Given the description of an element on the screen output the (x, y) to click on. 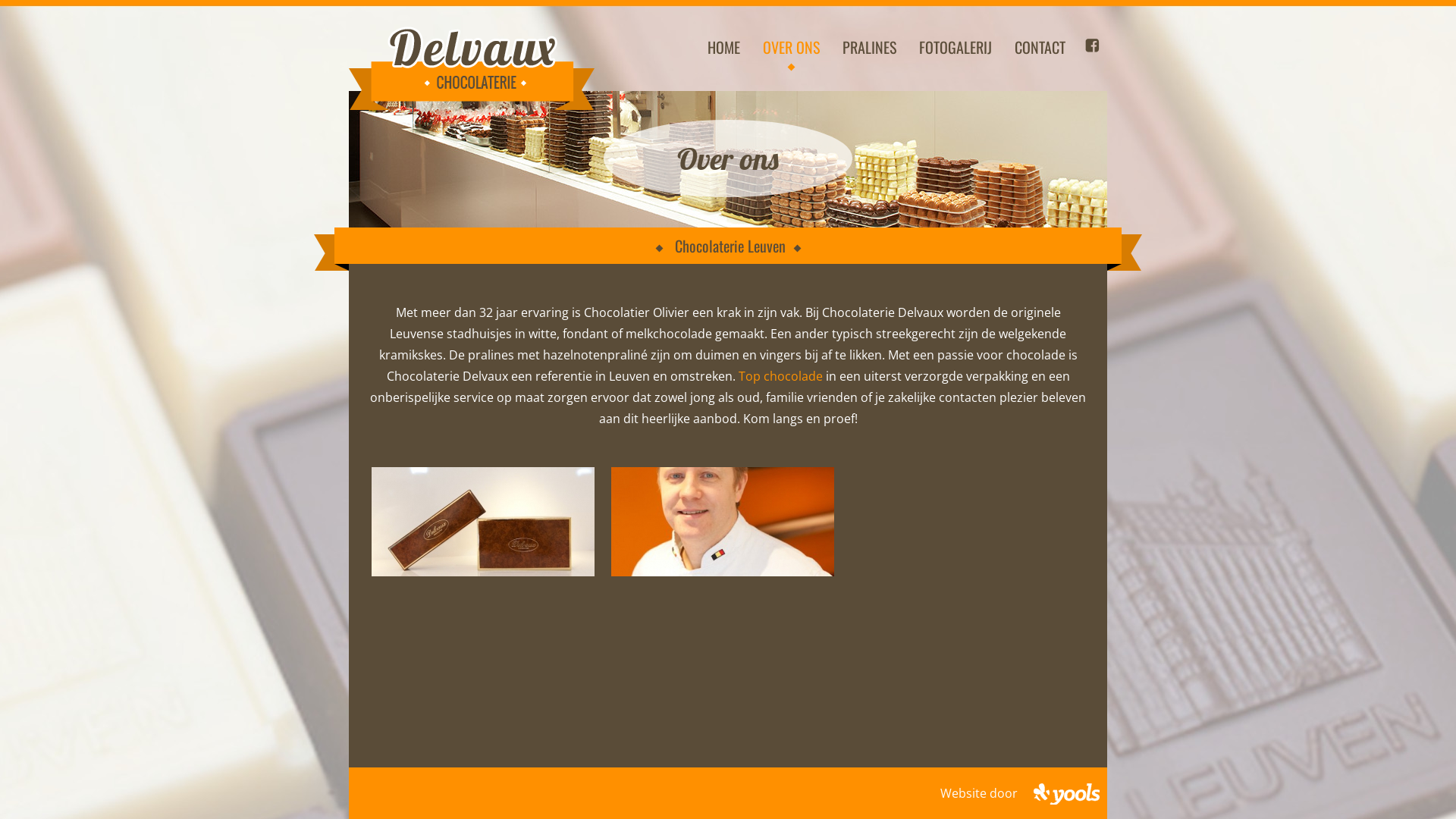
Yools Website Design Element type: hover (1066, 793)
PRALINES Element type: text (869, 46)
OVER ONS Element type: text (791, 46)
CONTACT Element type: text (1039, 46)
HOME Element type: text (723, 46)
FOTOGALERIJ Element type: text (955, 46)
